Given the description of an element on the screen output the (x, y) to click on. 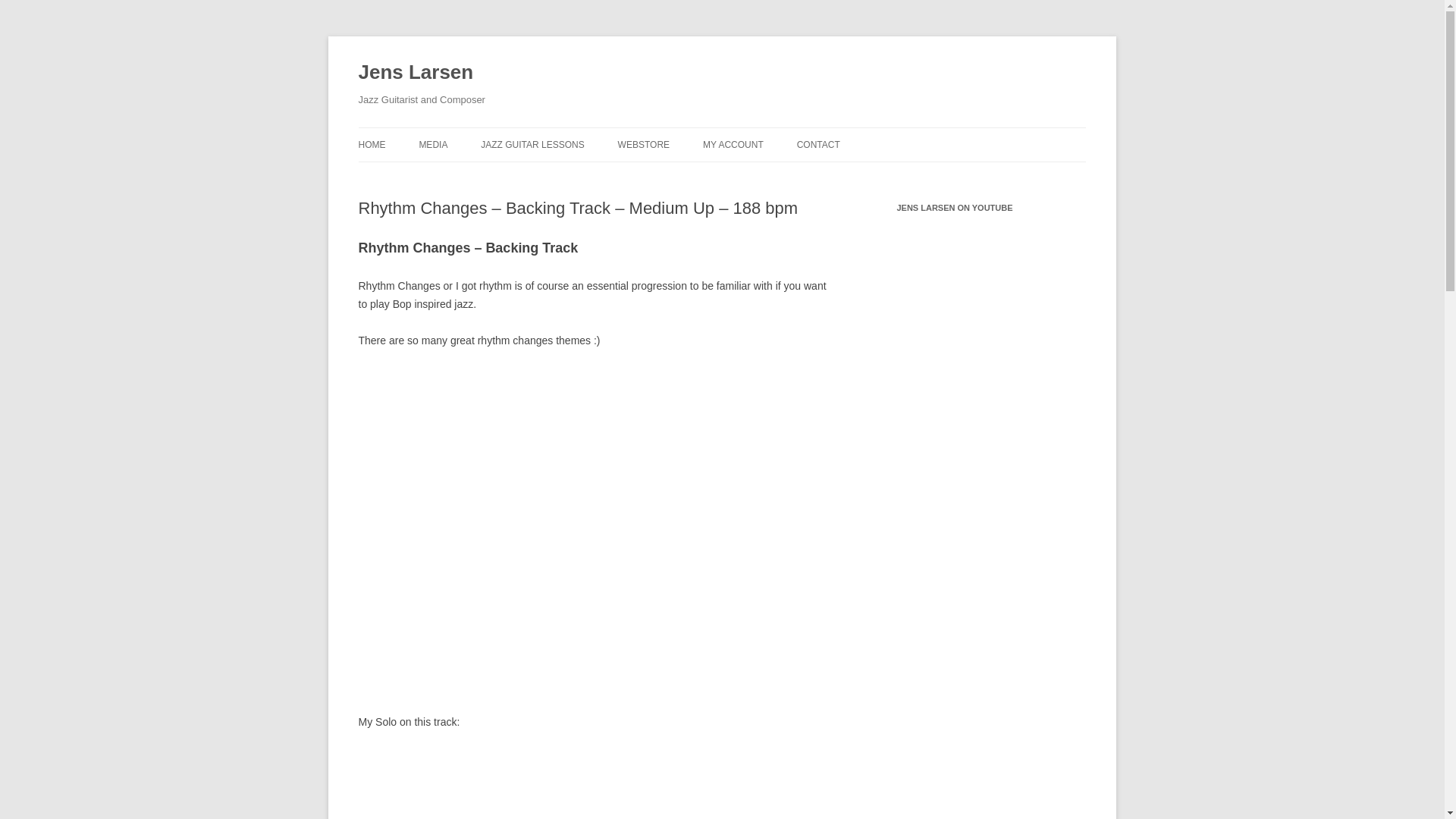
JAZZ GUITAR LESSONS (531, 144)
Jens Larsen (415, 72)
ONLINE LESSONS (555, 176)
CONTACT (818, 144)
Jens Larsen (415, 72)
WEBSTORE (643, 144)
MY ACCOUNT (732, 144)
